Given the description of an element on the screen output the (x, y) to click on. 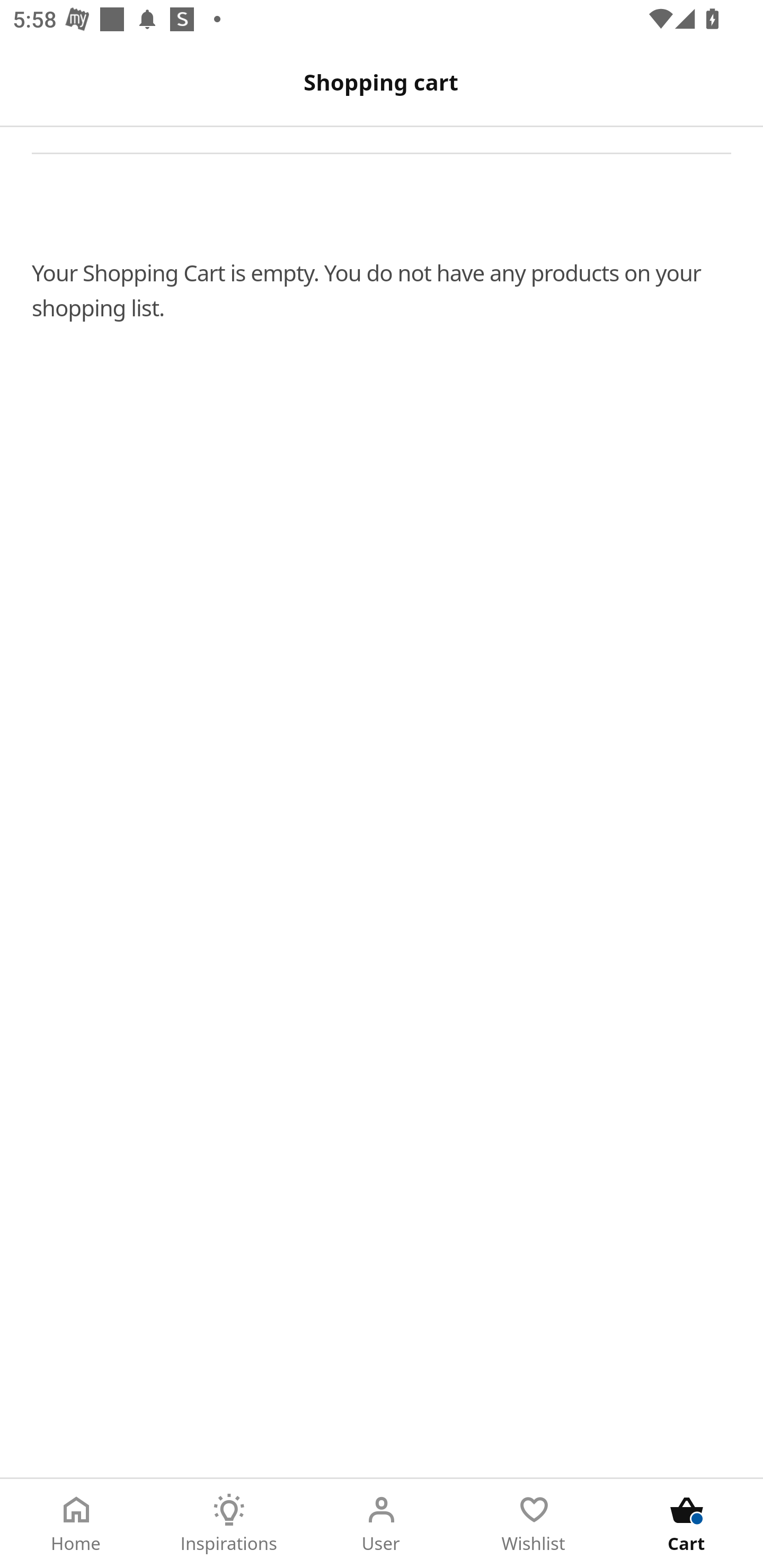
Home
Tab 1 of 5 (76, 1522)
Inspirations
Tab 2 of 5 (228, 1522)
User
Tab 3 of 5 (381, 1522)
Wishlist
Tab 4 of 5 (533, 1522)
Cart
Tab 5 of 5 (686, 1522)
